Given the description of an element on the screen output the (x, y) to click on. 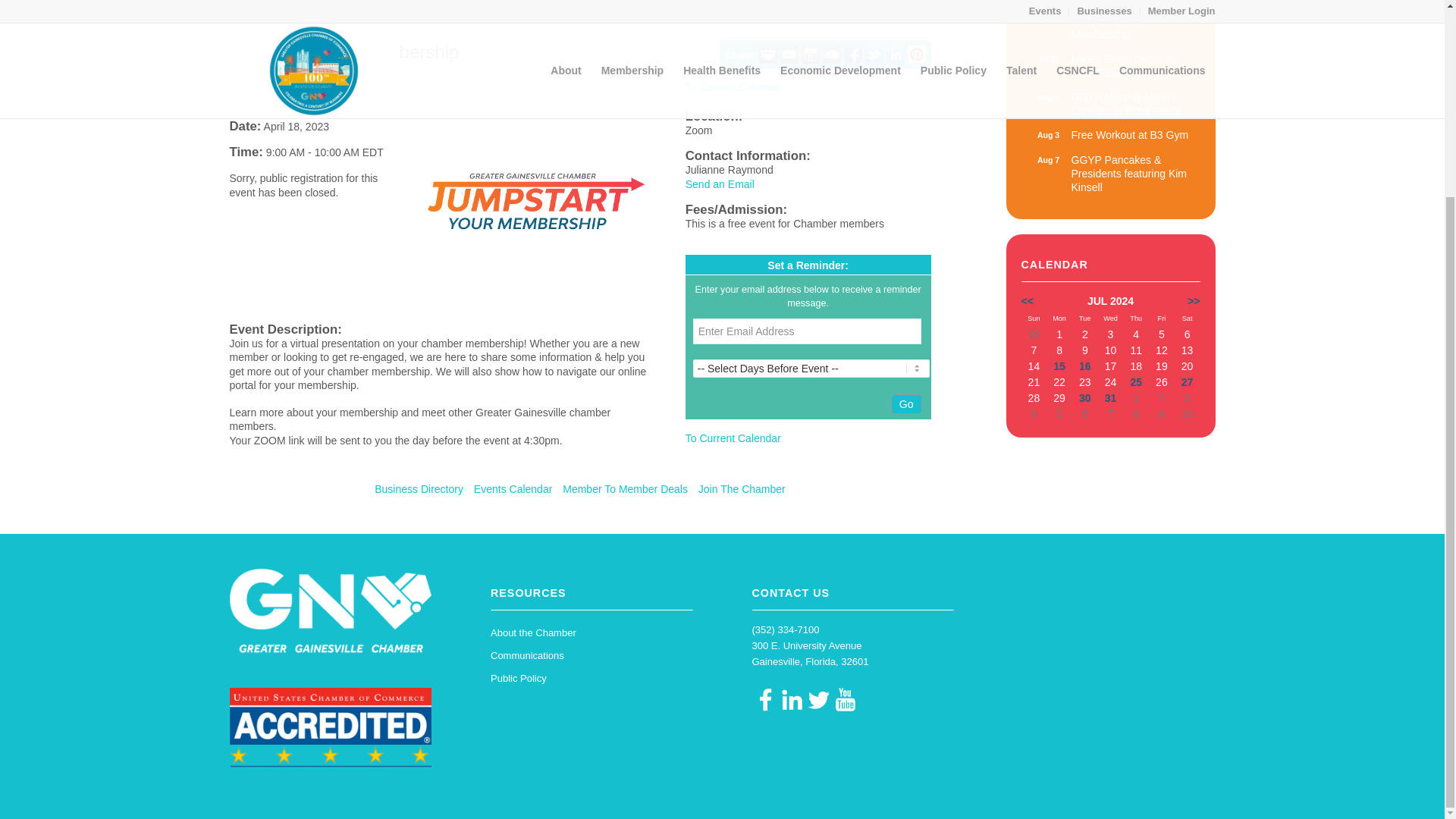
Add to Calendar (809, 54)
Free Workout at B3 Gym (1109, 27)
Jul 30 (1109, 134)
Print this Page (1048, 20)
Jul 31 (767, 54)
GGYP Monthly Mixer: Connect at Boca Fiesta (1048, 59)
Enter Email Address (1109, 103)
Share on Pinterest (807, 330)
JumpStart Your Membership (1109, 134)
Aug 7 (915, 54)
Aug 3 (1109, 27)
Aug 1 (1048, 160)
Share on LinkedIn (1048, 134)
